Given the description of an element on the screen output the (x, y) to click on. 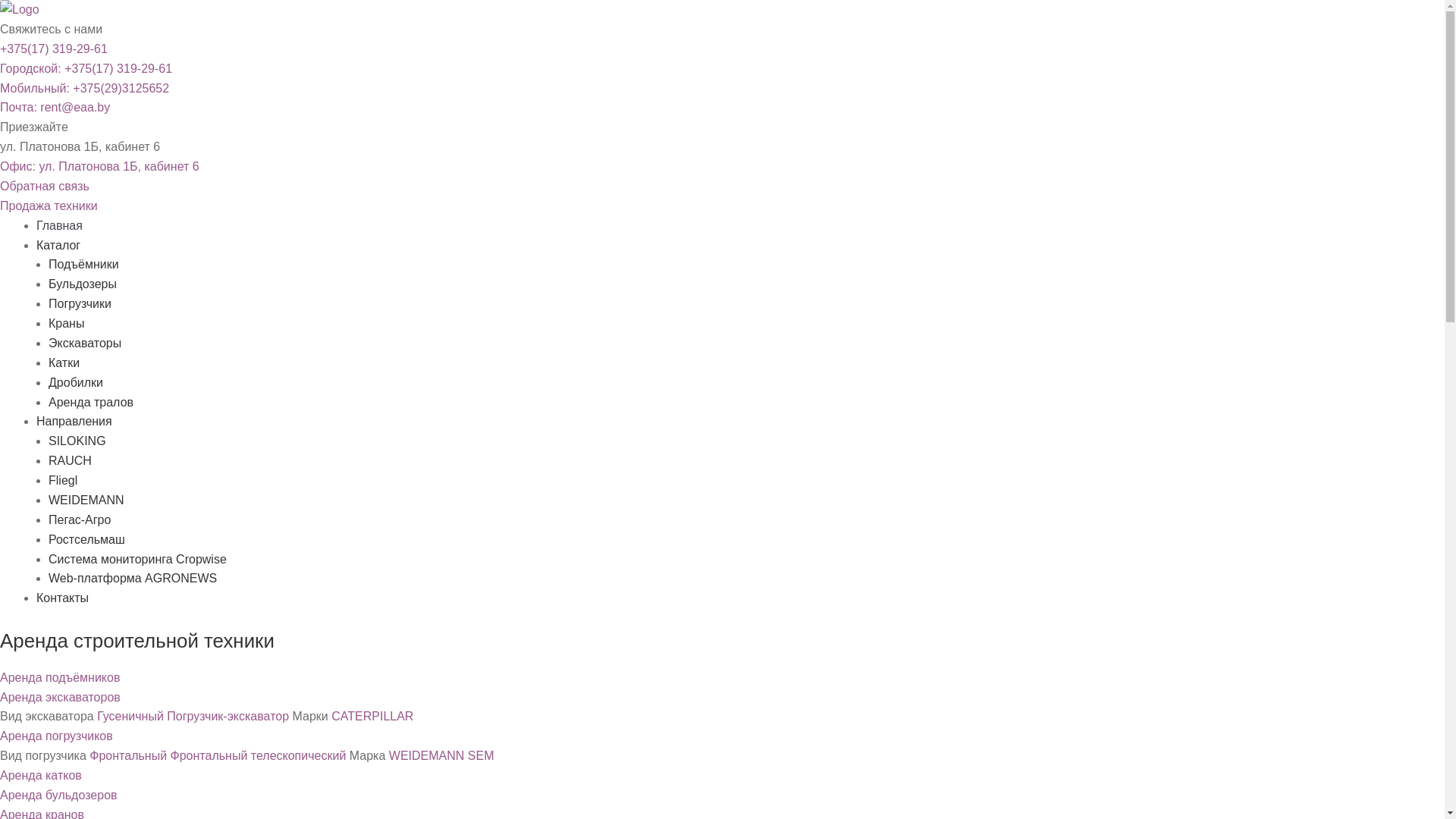
Fliegl Element type: text (62, 479)
WEIDEMANN Element type: text (86, 499)
+375(17) 319-29-61 Element type: text (53, 48)
CATERPILLAR Element type: text (372, 715)
WEIDEMANN Element type: text (426, 755)
SILOKING Element type: text (77, 440)
RAUCH Element type: text (69, 460)
SEM Element type: text (480, 755)
